Given the description of an element on the screen output the (x, y) to click on. 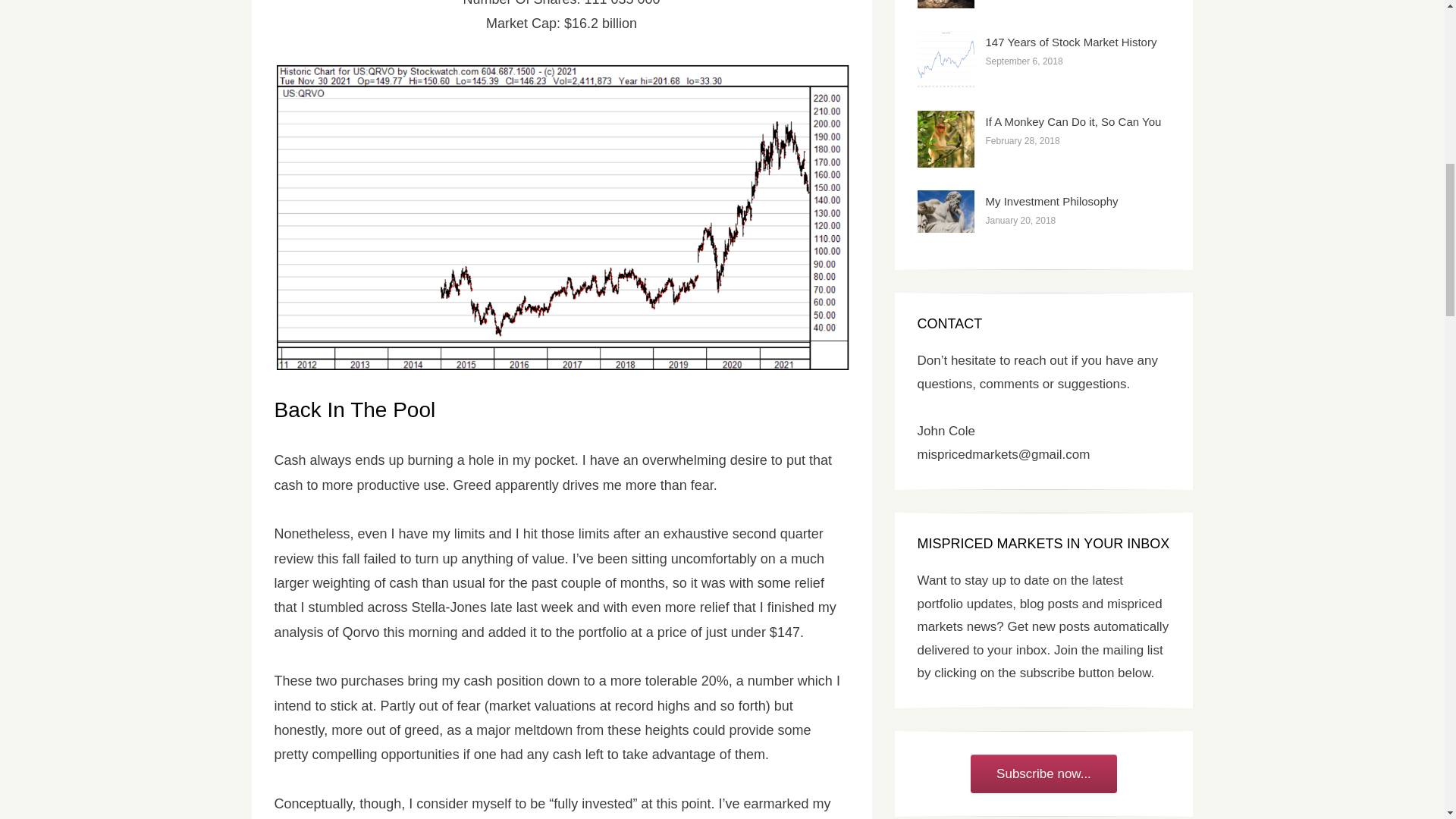
My Investment Philosophy (1051, 201)
147 Years of Stock Market History (1071, 42)
If A Monkey Can Do it, So Can You (1073, 121)
Subscribe now... (1043, 773)
